Given the description of an element on the screen output the (x, y) to click on. 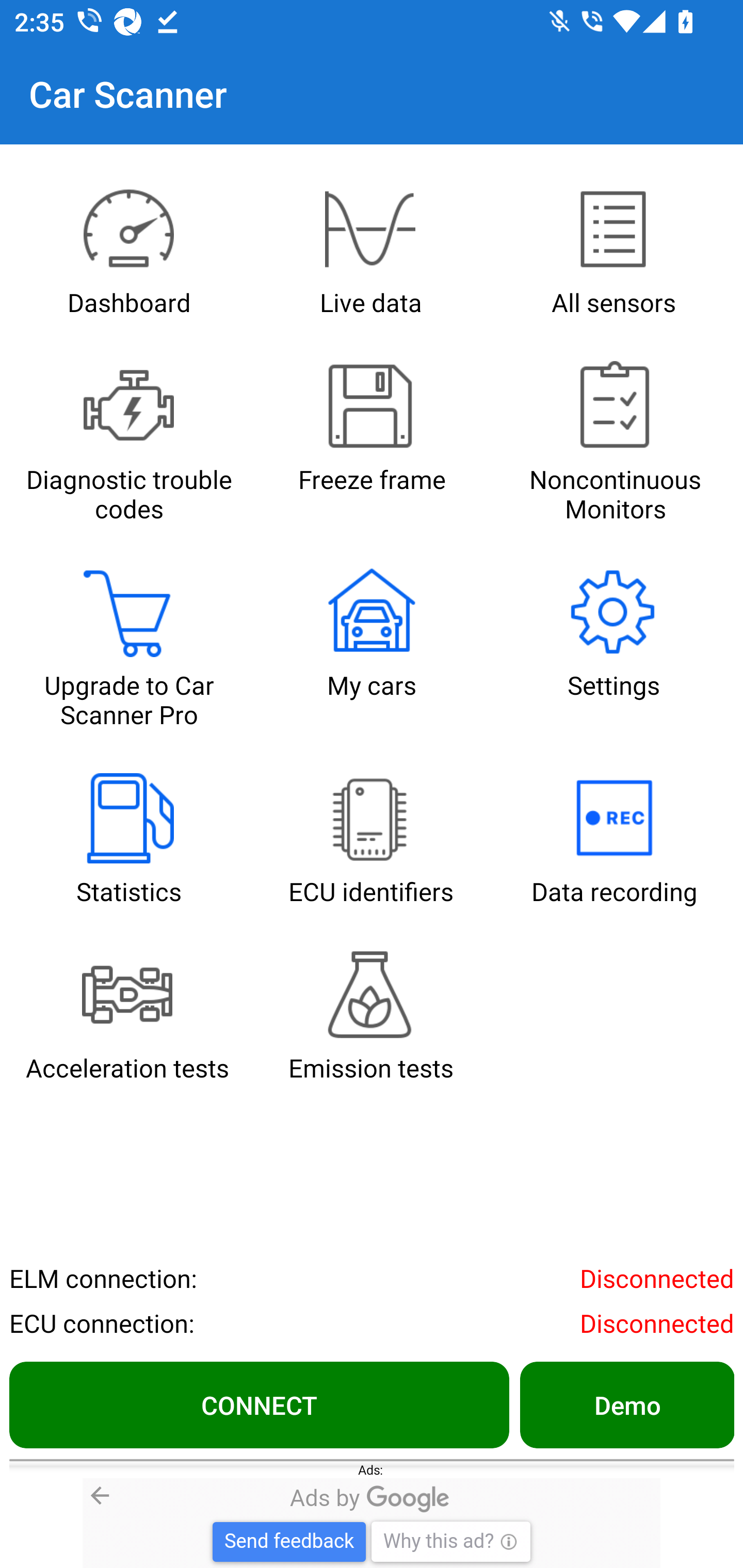
CONNECT (258, 1404)
Demo (627, 1404)
